Given the description of an element on the screen output the (x, y) to click on. 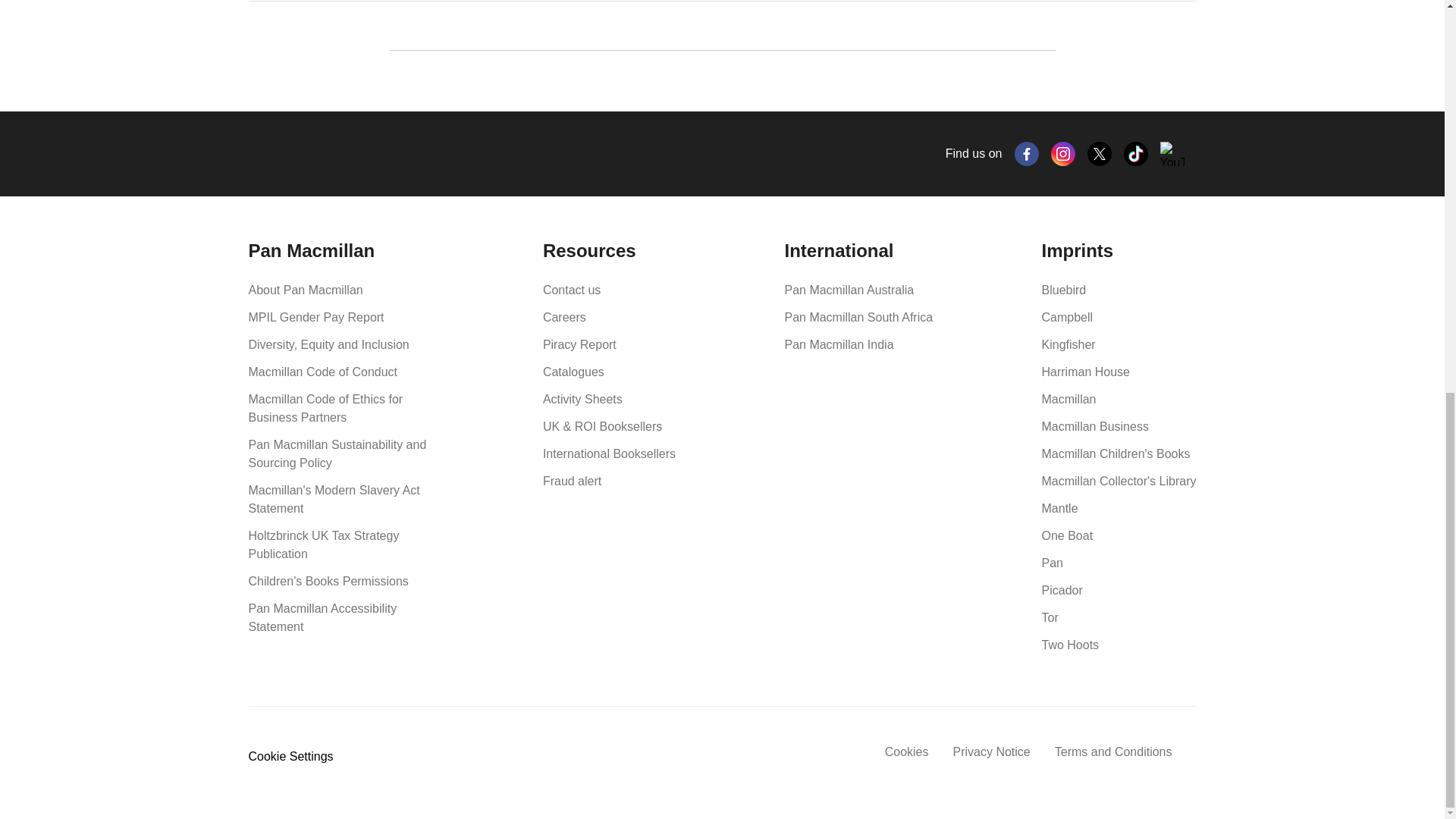
TikTok (1136, 153)
Instagram (1063, 153)
Facebook (1026, 153)
YouTube (1172, 153)
